Given the description of an element on the screen output the (x, y) to click on. 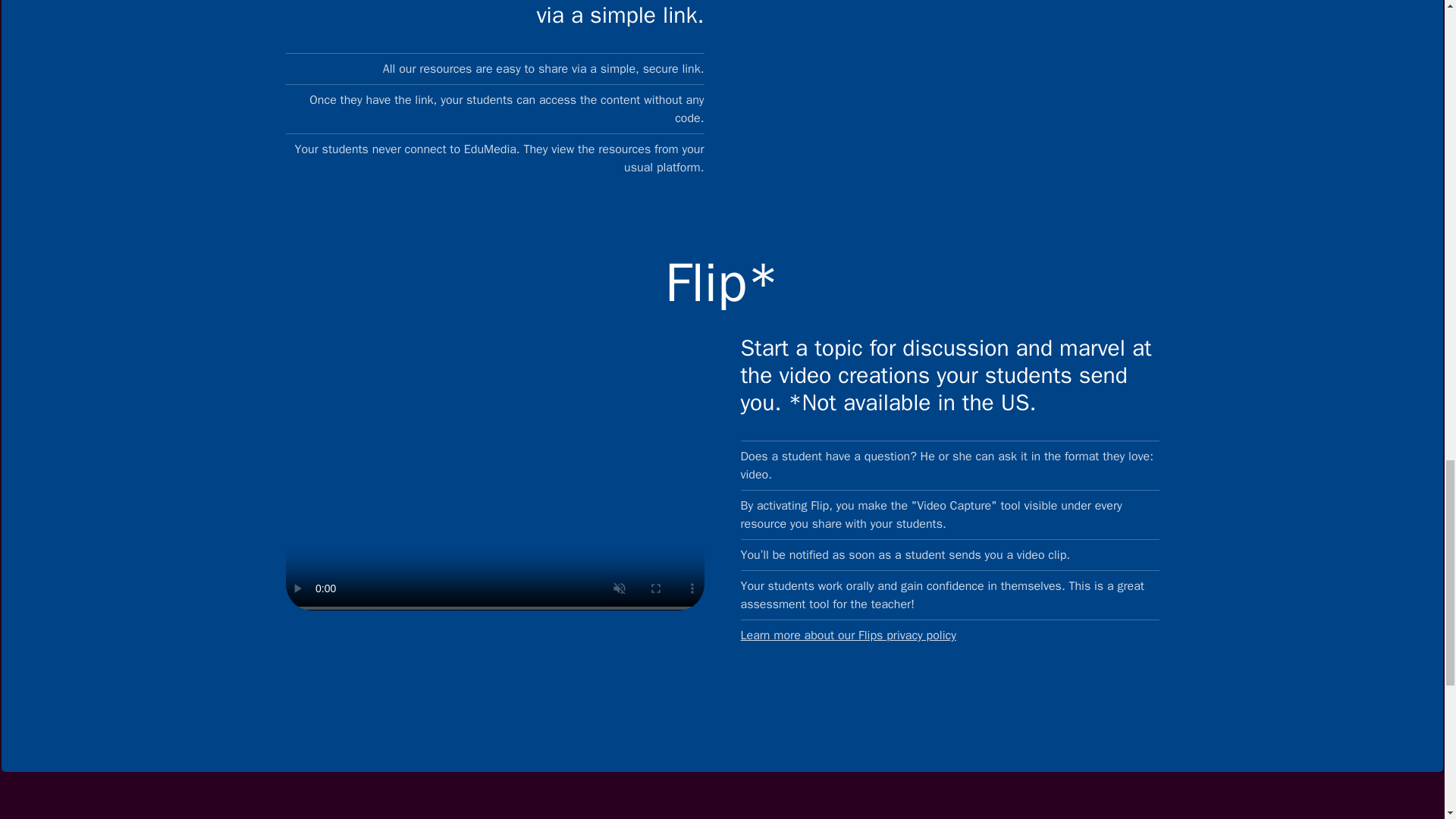
Learn more about our Flips privacy policy (948, 634)
